Given the description of an element on the screen output the (x, y) to click on. 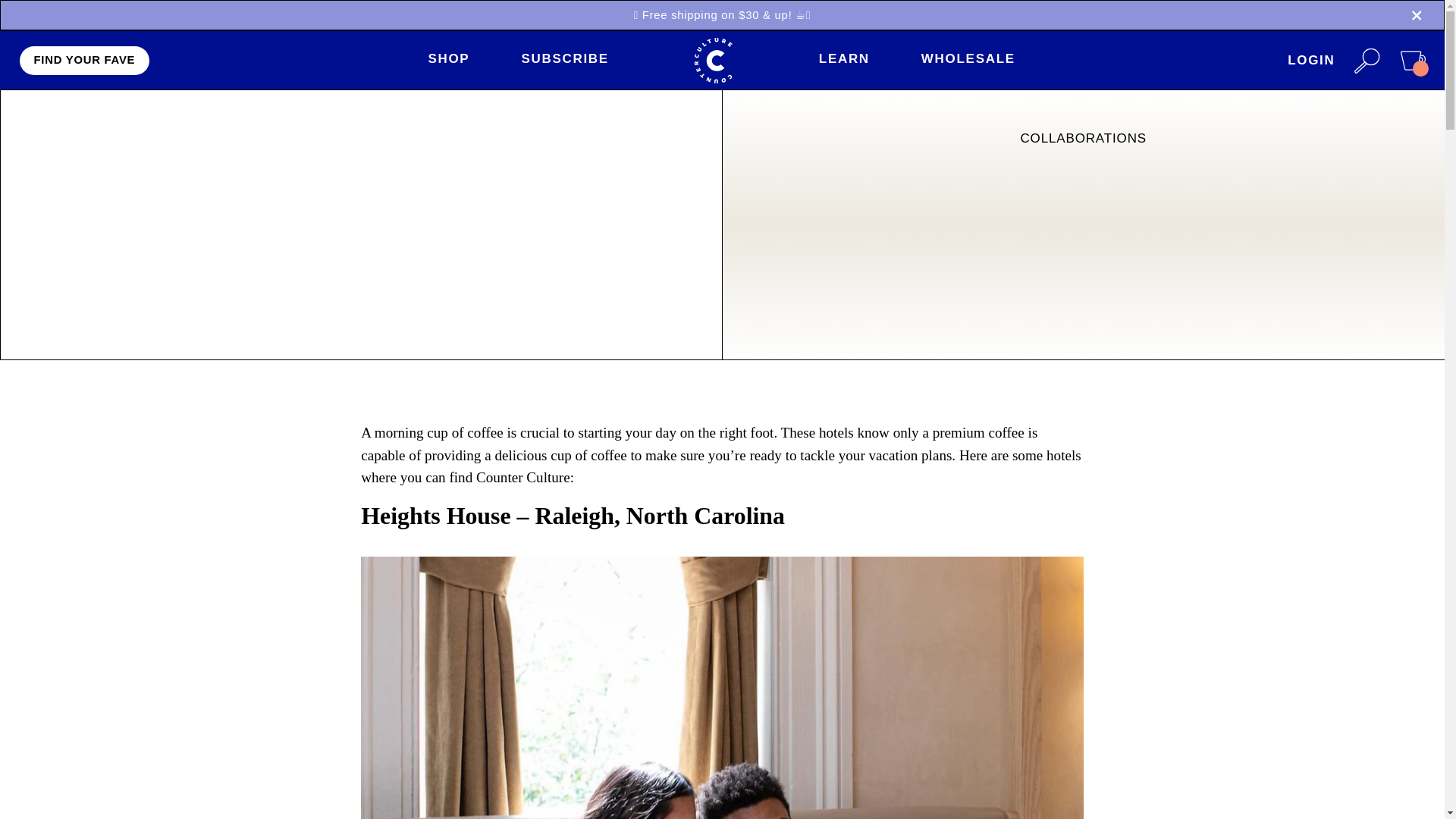
SHOP (448, 59)
Close Announcement Bar (1416, 15)
Counter Culture Coffee Homepage (713, 60)
LEARN (843, 59)
SUBSCRIBE (564, 59)
FIND YOUR FAVE (84, 60)
WHOLESALE (967, 59)
